Given the description of an element on the screen output the (x, y) to click on. 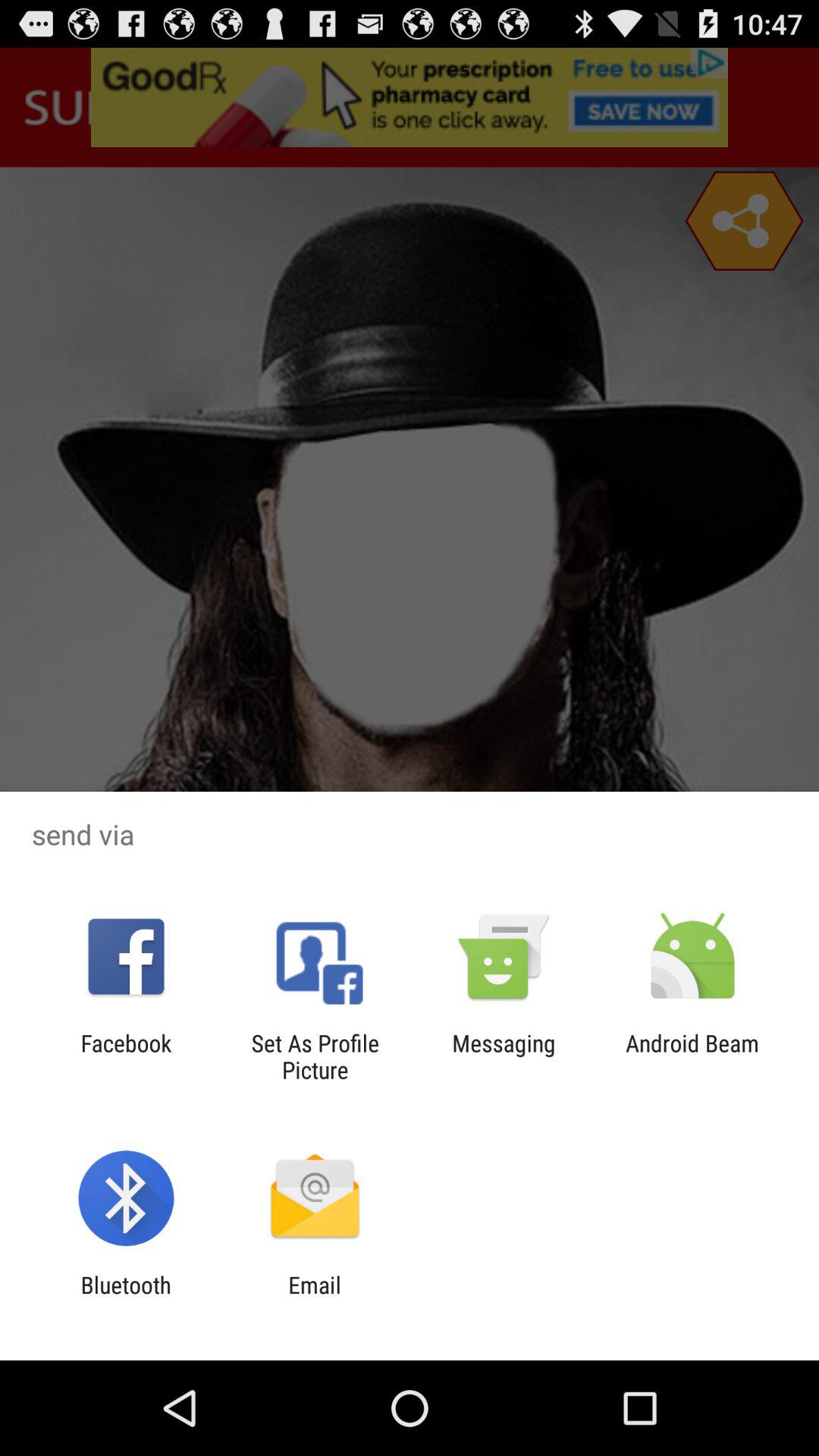
scroll to messaging app (503, 1056)
